Given the description of an element on the screen output the (x, y) to click on. 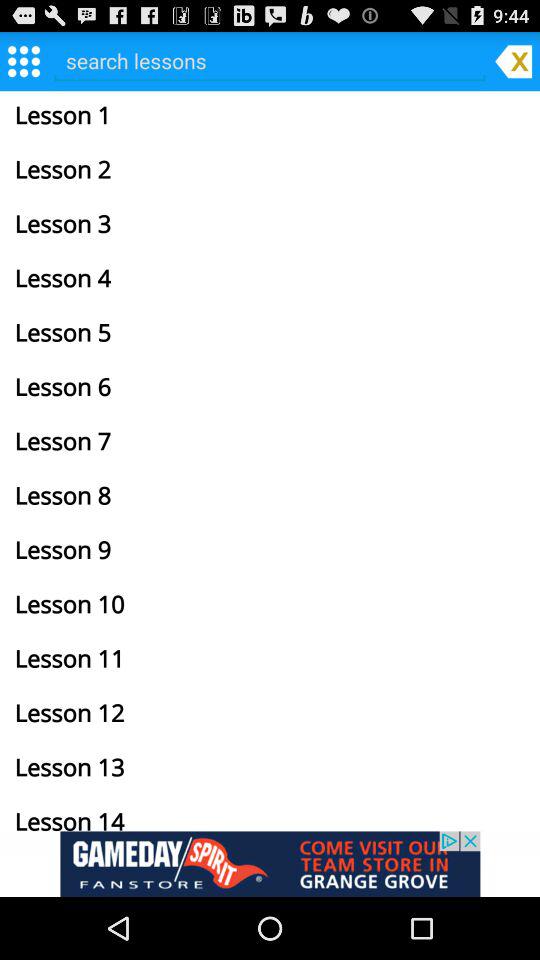
toggle advertisement (270, 864)
